Given the description of an element on the screen output the (x, y) to click on. 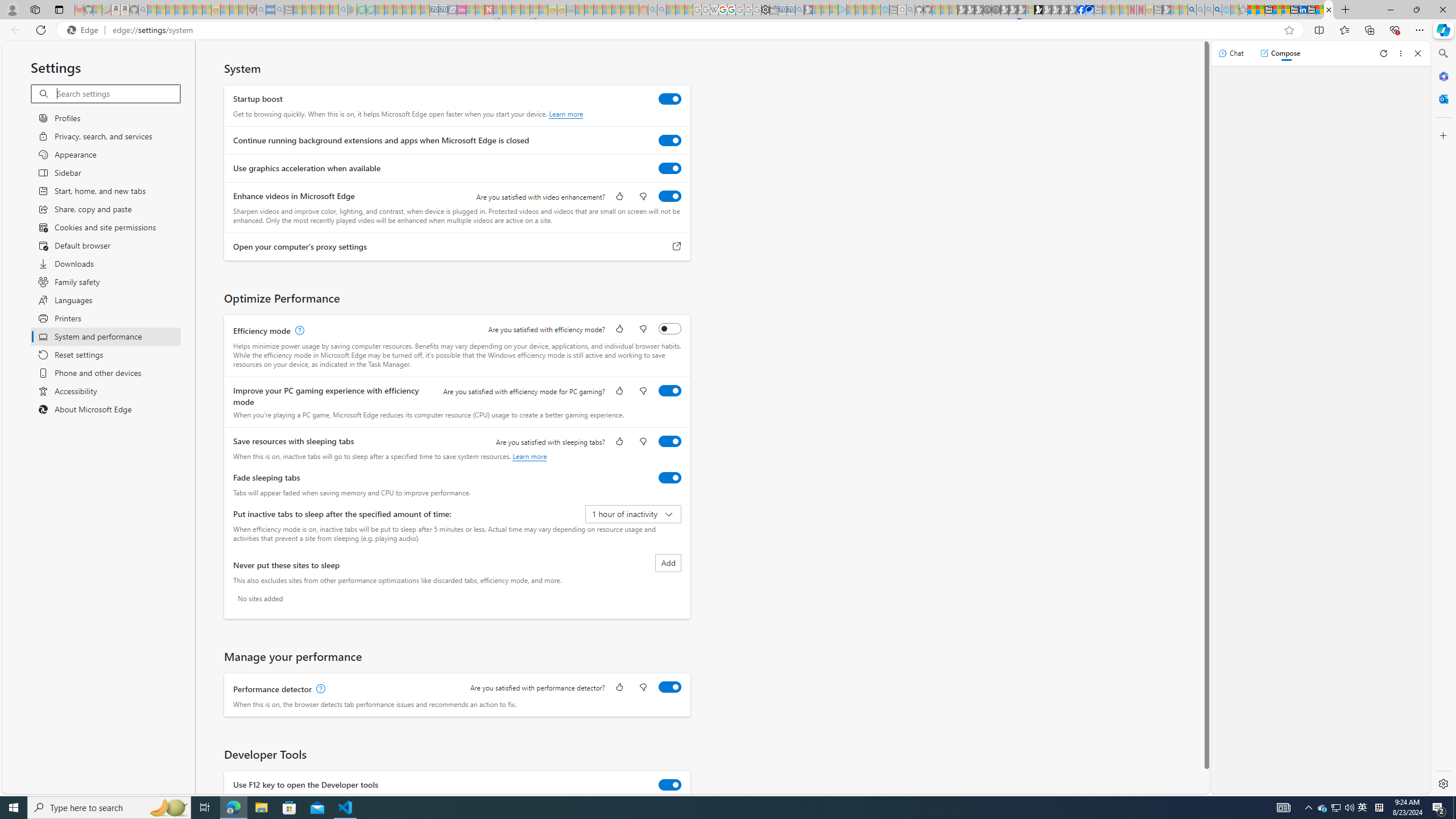
Learn more (529, 456)
google - Search - Sleeping (342, 9)
Compose (1279, 52)
Google Chrome Internet Browser Download - Search Images (1217, 9)
Bluey: Let's Play! - Apps on Google Play - Sleeping (352, 9)
Nordace | Facebook (1080, 9)
Add site to never put these sites to sleep list (668, 562)
